Given the description of an element on the screen output the (x, y) to click on. 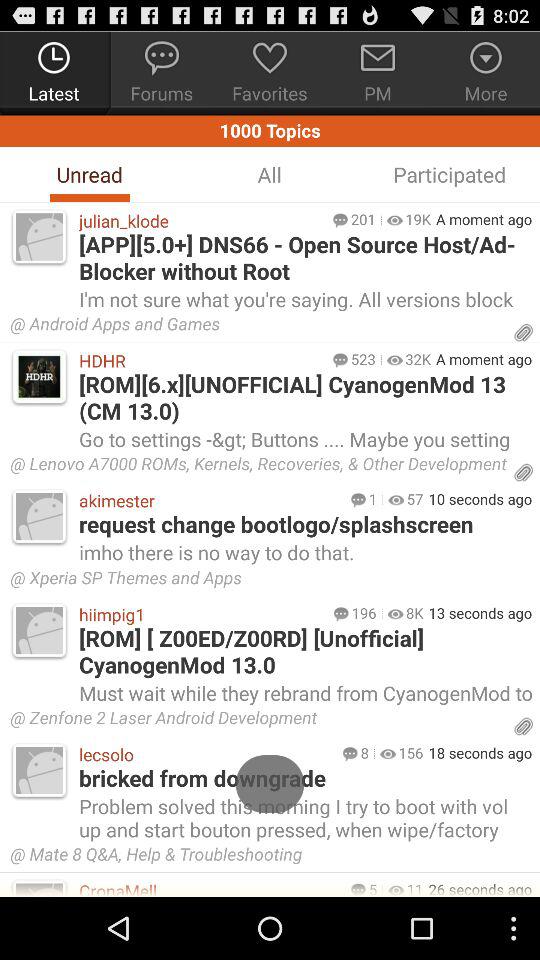
turn on the hdhr app (200, 360)
